Given the description of an element on the screen output the (x, y) to click on. 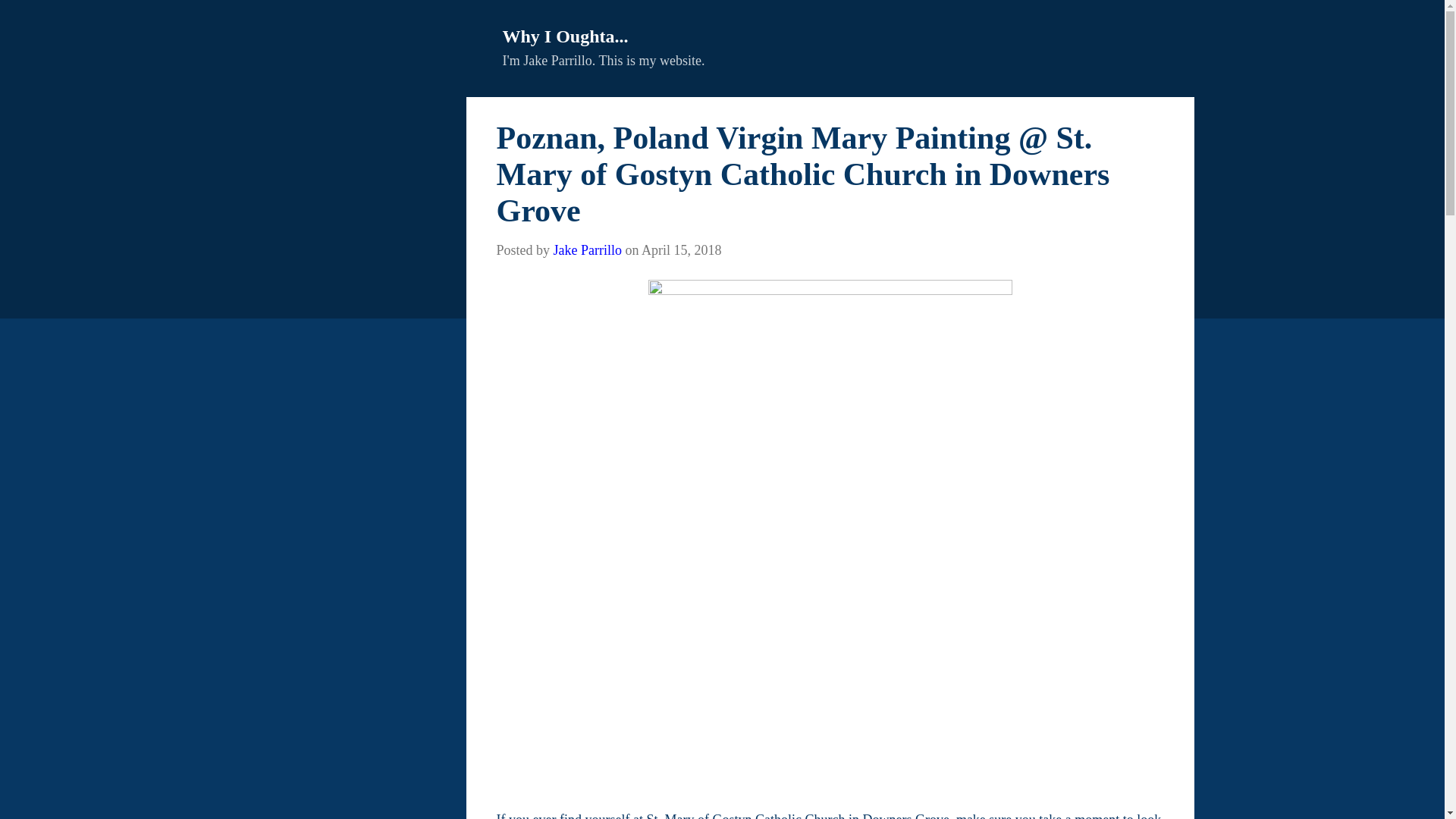
Why I Oughta... (564, 35)
Search (34, 18)
April 15, 2018 (682, 249)
permanent link (682, 249)
Jake Parrillo (587, 249)
author profile (587, 249)
